Given the description of an element on the screen output the (x, y) to click on. 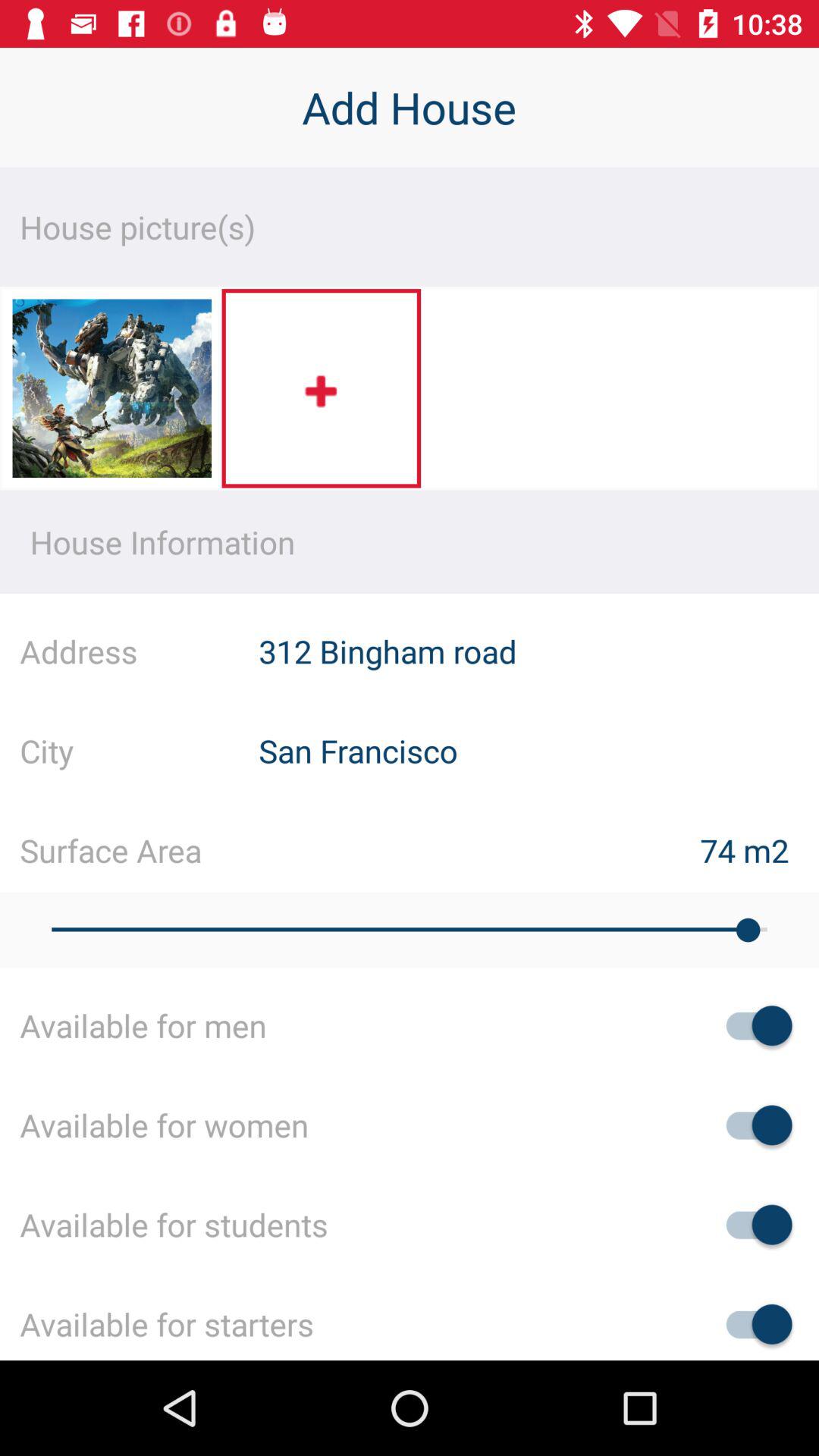
toggle on/off (751, 1224)
